Given the description of an element on the screen output the (x, y) to click on. 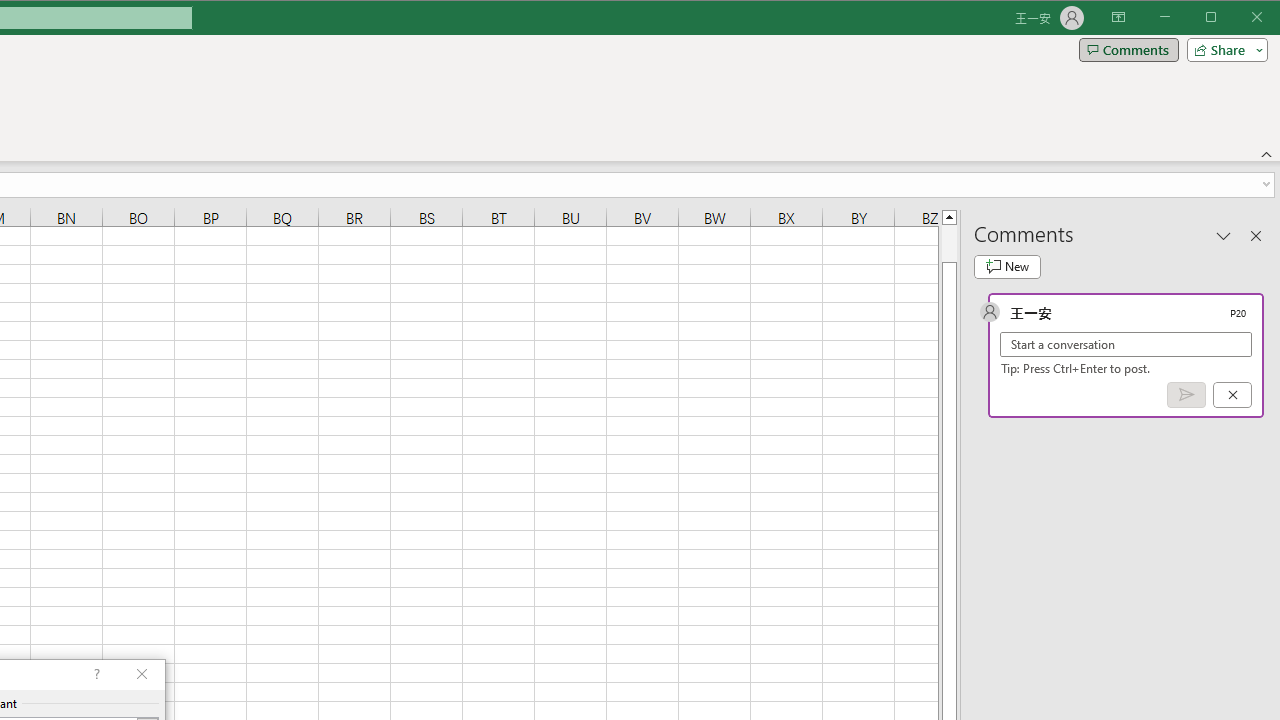
Page up (948, 243)
Post comment (Ctrl + Enter) (1186, 395)
Start a conversation (1126, 344)
New comment (1007, 266)
Cancel (1232, 395)
